Given the description of an element on the screen output the (x, y) to click on. 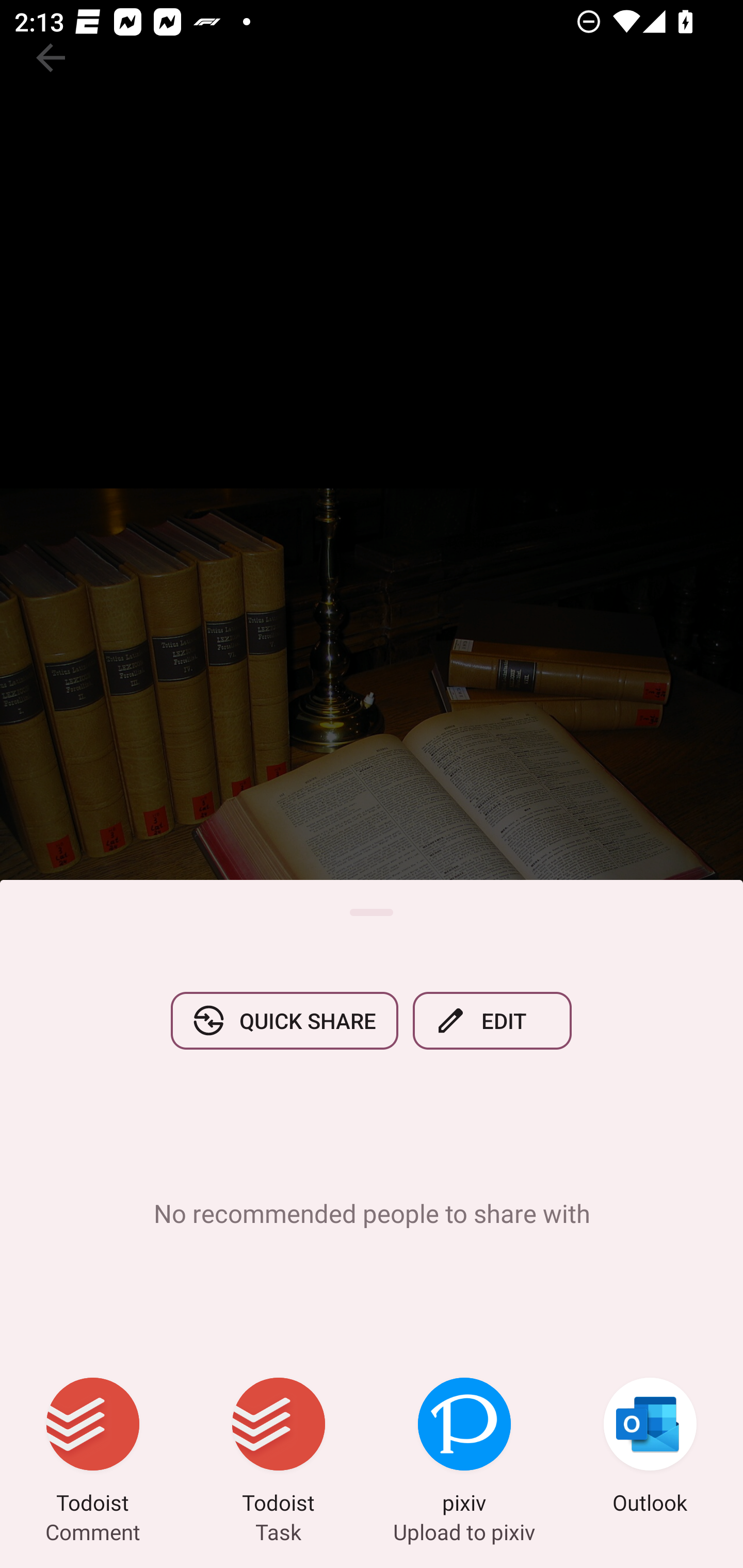
QUICK SHARE (284, 1020)
EDIT (492, 1020)
Todoist Comment (92, 1448)
Todoist Task (278, 1448)
pixiv Upload to pixiv (464, 1448)
Outlook (650, 1448)
